Given the description of an element on the screen output the (x, y) to click on. 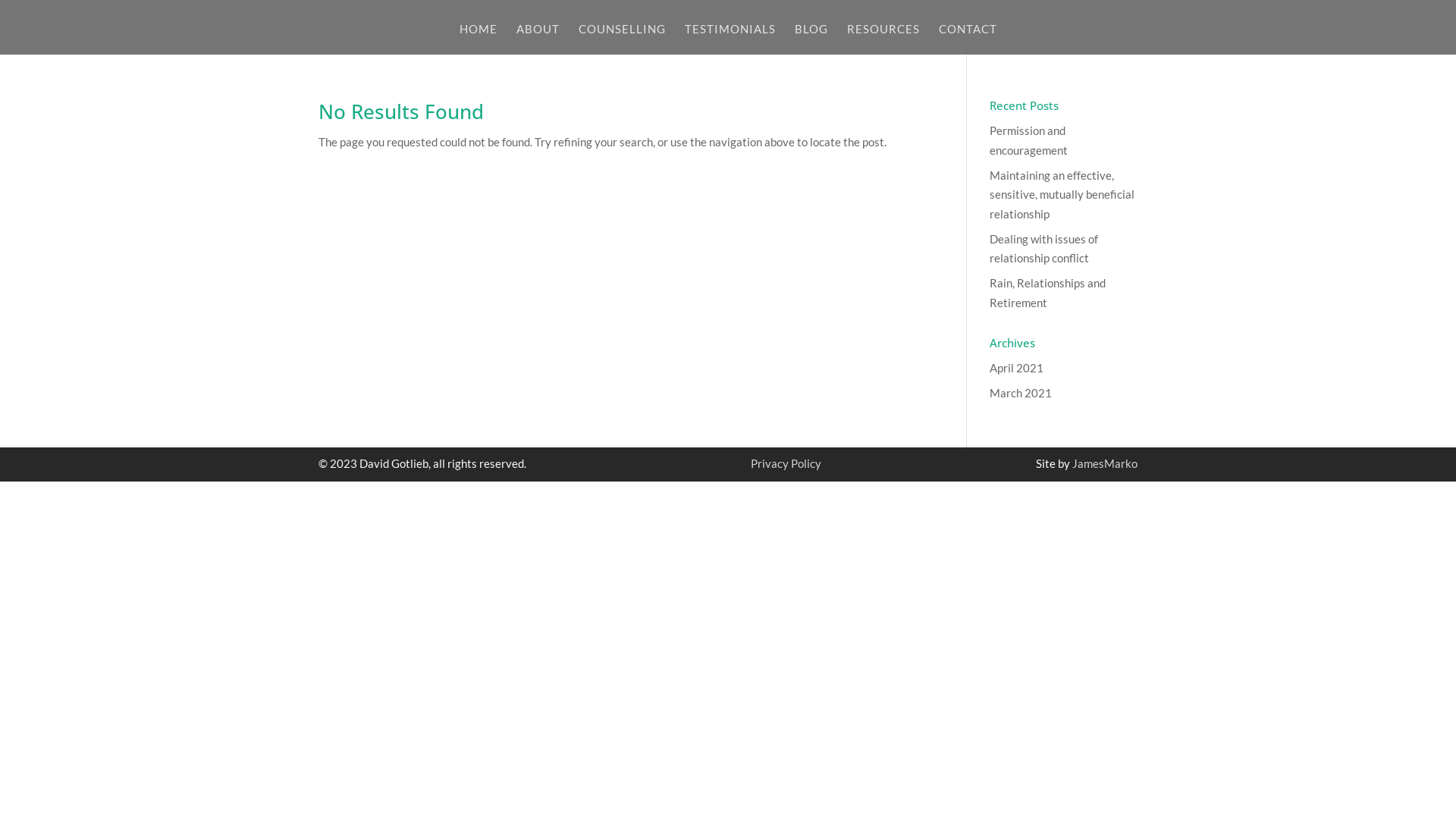
Rain, Relationships and Retirement Element type: text (1047, 292)
RESOURCES Element type: text (882, 38)
HOME Element type: text (478, 38)
JamesMarko Element type: text (1104, 463)
COUNSELLING Element type: text (621, 38)
Permission and encouragement Element type: text (1028, 139)
Privacy Policy Element type: text (785, 463)
TESTIMONIALS Element type: text (729, 38)
Dealing with issues of relationship conflict Element type: text (1043, 248)
ABOUT Element type: text (536, 38)
BLOG Element type: text (811, 38)
April 2021 Element type: text (1016, 367)
CONTACT Element type: text (967, 38)
March 2021 Element type: text (1020, 392)
